Given the description of an element on the screen output the (x, y) to click on. 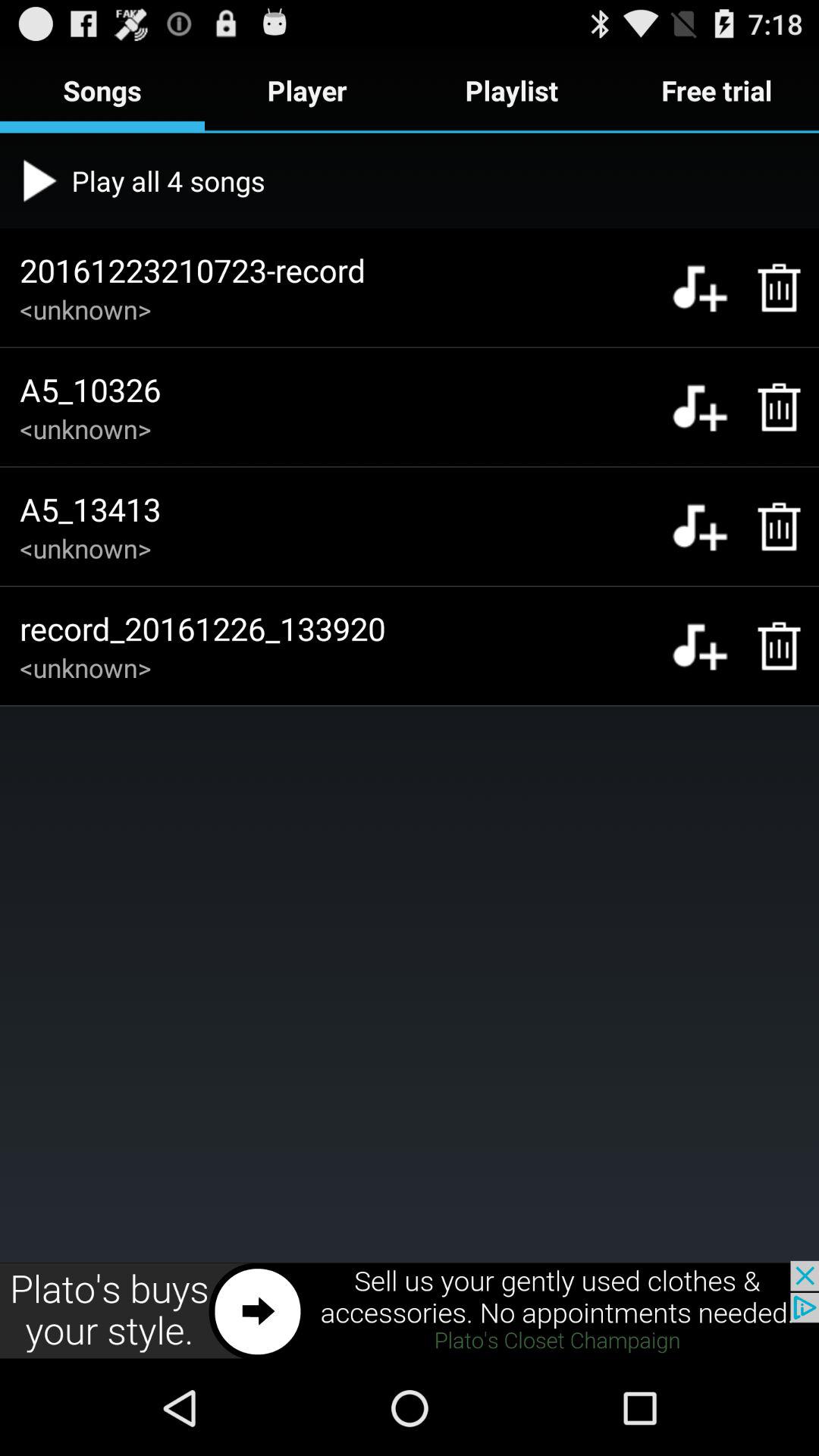
remove song (771, 287)
